Given the description of an element on the screen output the (x, y) to click on. 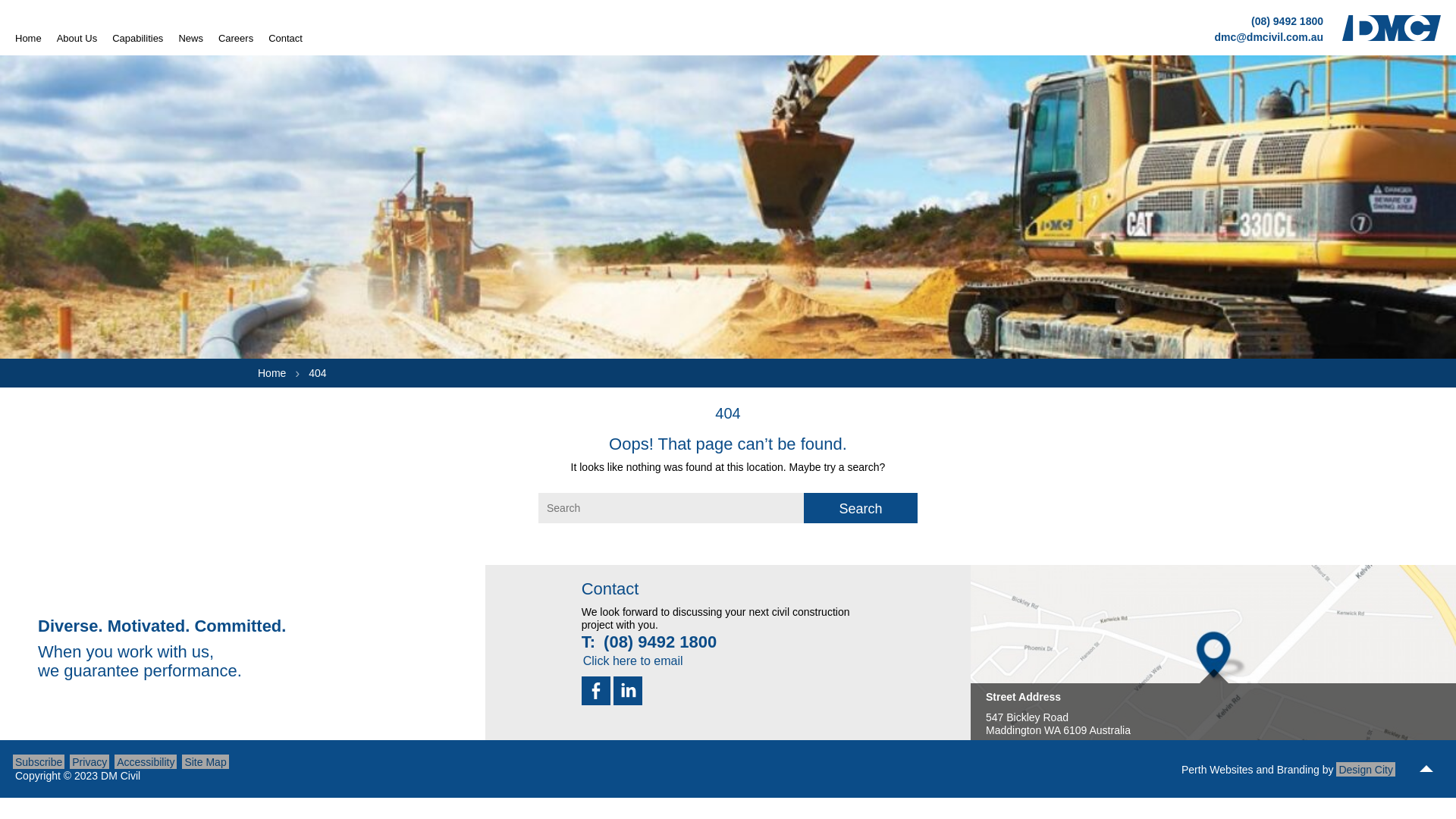
Home Element type: text (28, 38)
Careers Element type: text (235, 38)
Subscribe Element type: text (38, 761)
Design City Element type: text (1365, 769)
Branding Element type: text (1298, 769)
(08) 9492 1800 Element type: text (1287, 20)
About Us Element type: text (76, 38)
Privacy Element type: text (89, 761)
LinkedIn Element type: text (627, 690)
(08) 9492 1800 Element type: text (659, 641)
Search Element type: text (860, 507)
Accessibility Element type: text (145, 761)
Contact Element type: text (610, 588)
Contact Element type: text (285, 38)
Home Element type: text (271, 372)
Click here to email Element type: text (633, 659)
Capabilities Element type: text (137, 38)
News Element type: text (190, 38)
Top Element type: text (1426, 769)
Facebook Element type: text (595, 690)
Site Map Element type: text (205, 761)
Perth Websites Element type: text (1217, 769)
dmc@dmcivil.com.au Element type: text (1268, 36)
